Given the description of an element on the screen output the (x, y) to click on. 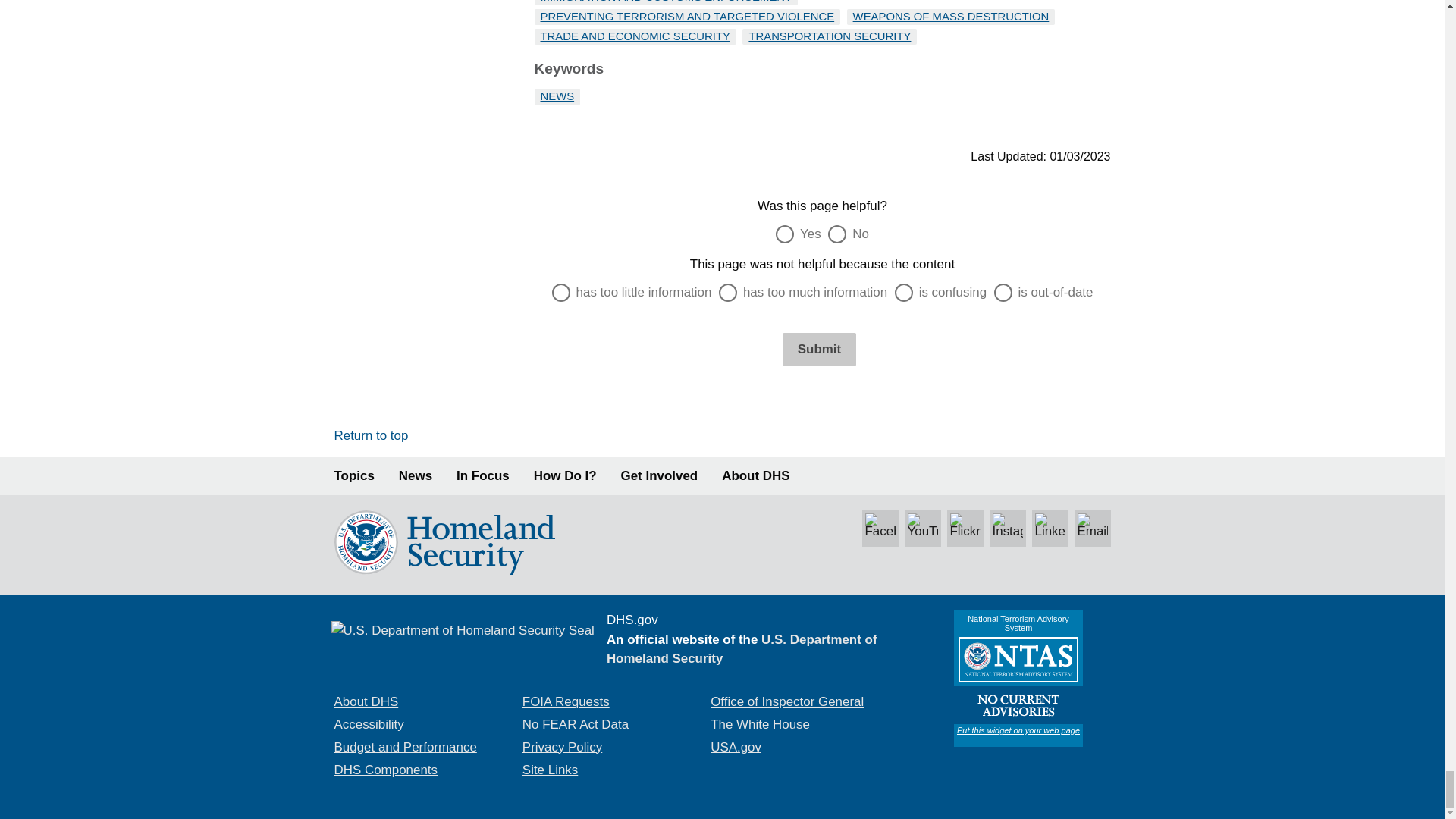
Get Involved (659, 476)
Submit (819, 349)
USA.gov (735, 747)
Topics (353, 476)
National Terrorism Advisory System (1018, 678)
Submit (819, 349)
The White House (759, 724)
Office of the Inspector General (786, 701)
DHS Components (385, 769)
